Given the description of an element on the screen output the (x, y) to click on. 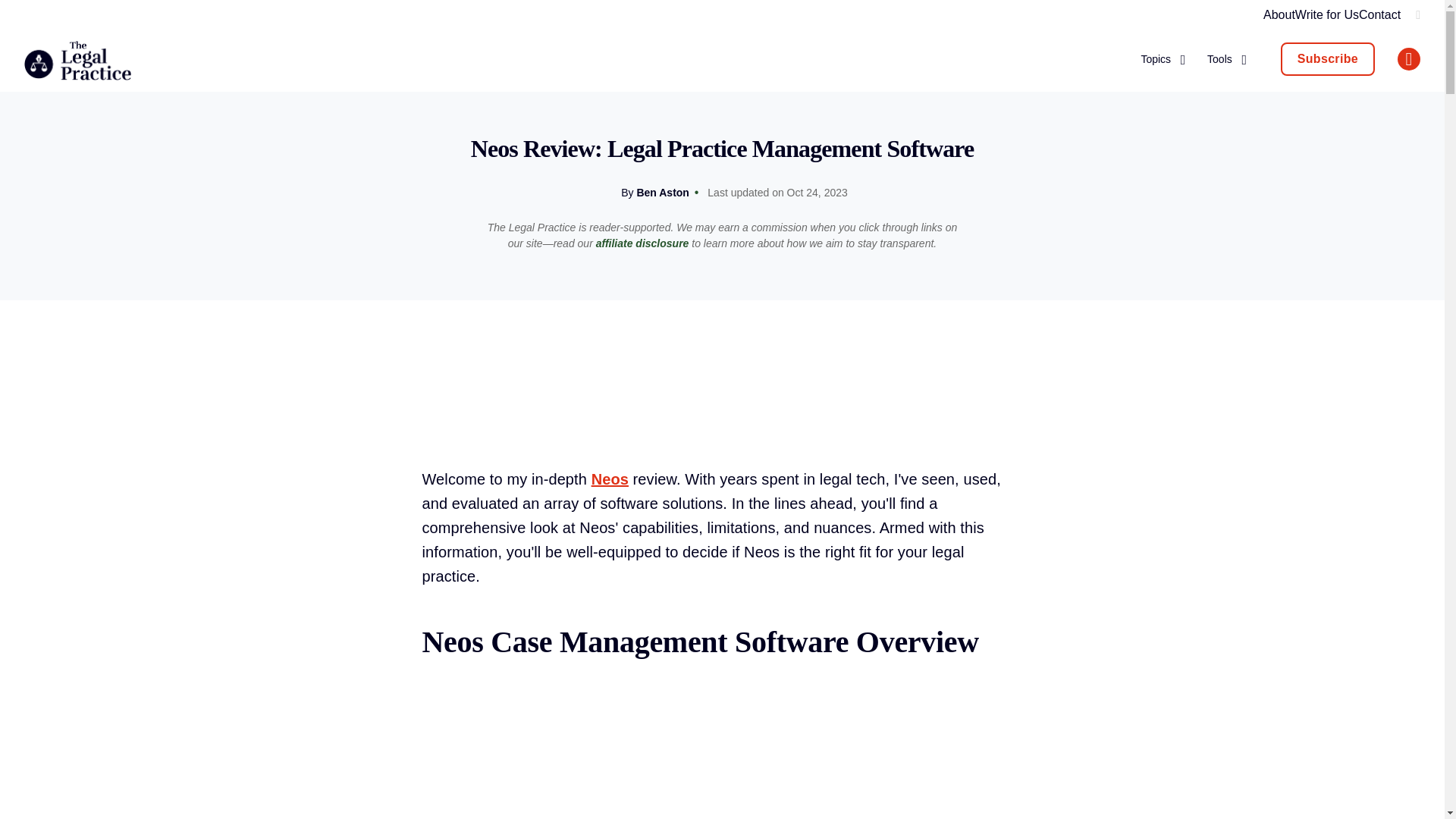
Ben Aston (662, 192)
Contact (1379, 14)
affiliate disclosure (641, 243)
The Legal Practice (77, 61)
Write for Us (1326, 14)
Subscribe (1327, 59)
About (1279, 14)
Neos (609, 478)
